Given the description of an element on the screen output the (x, y) to click on. 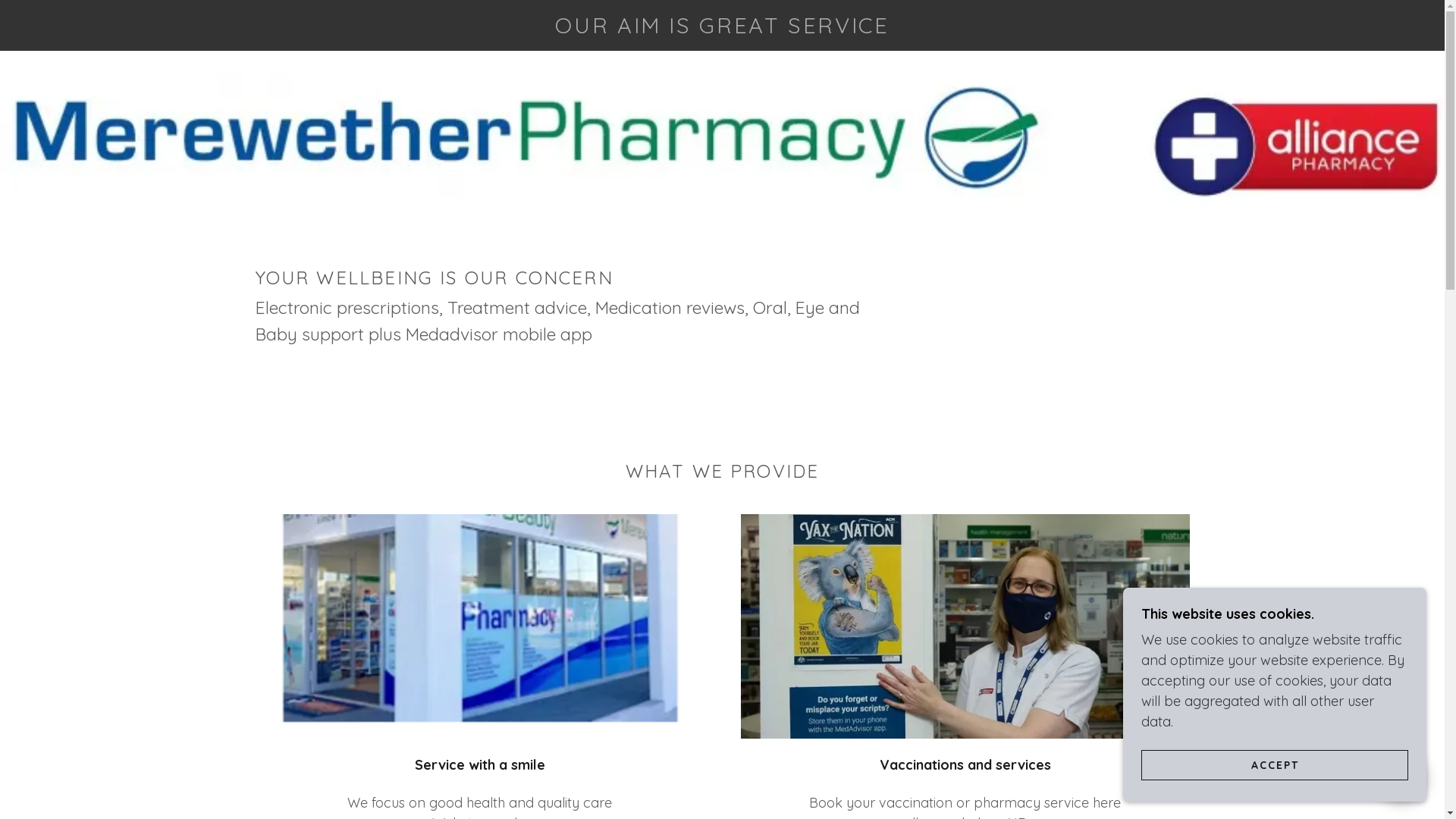
ACCEPT Element type: text (1274, 764)
OUR AIM IS GREAT SERVICE Element type: text (721, 28)
